Given the description of an element on the screen output the (x, y) to click on. 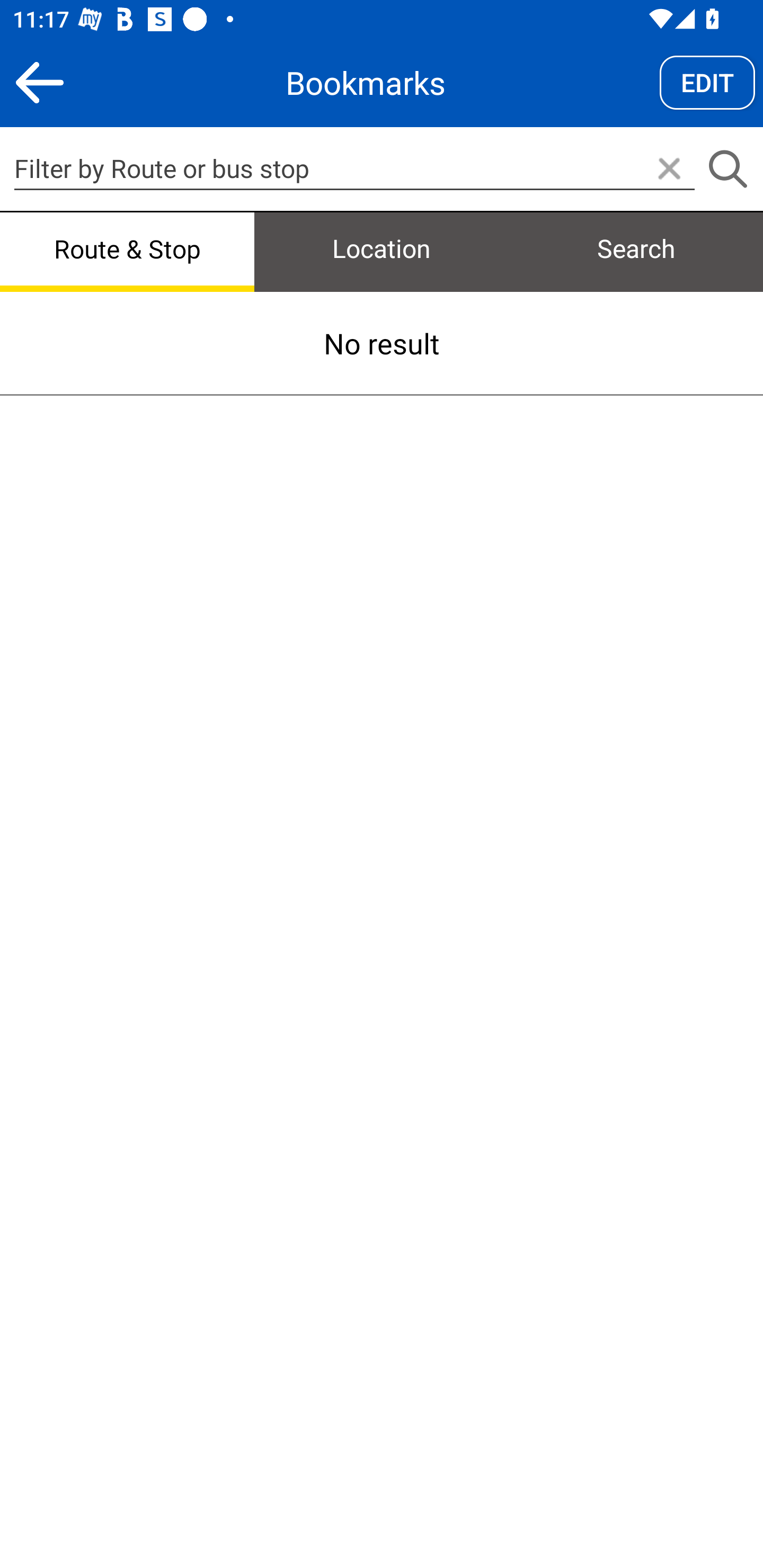
Back (39, 82)
EDIT Edit (707, 81)
Filter by Route or bus stop (354, 168)
Search (727, 169)
Clear (669, 169)
Route & Stop selected (127, 249)
Location (381, 249)
Search (635, 249)
